Given the description of an element on the screen output the (x, y) to click on. 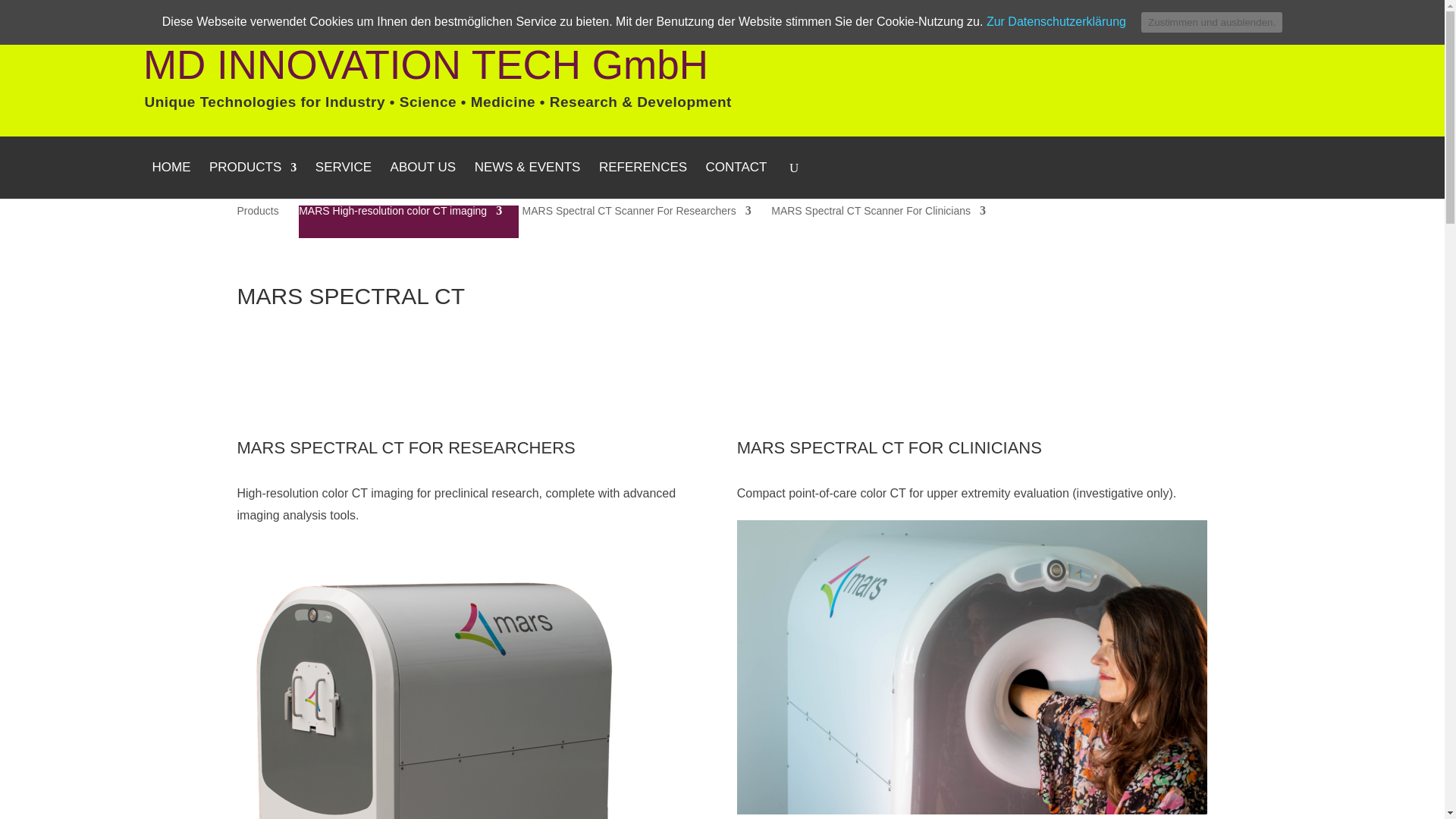
ABOUT US (423, 180)
HOME (170, 180)
SERVICE (343, 180)
CONTACT (736, 180)
PRODUCTS (253, 180)
REFERENCES (642, 180)
